Given the description of an element on the screen output the (x, y) to click on. 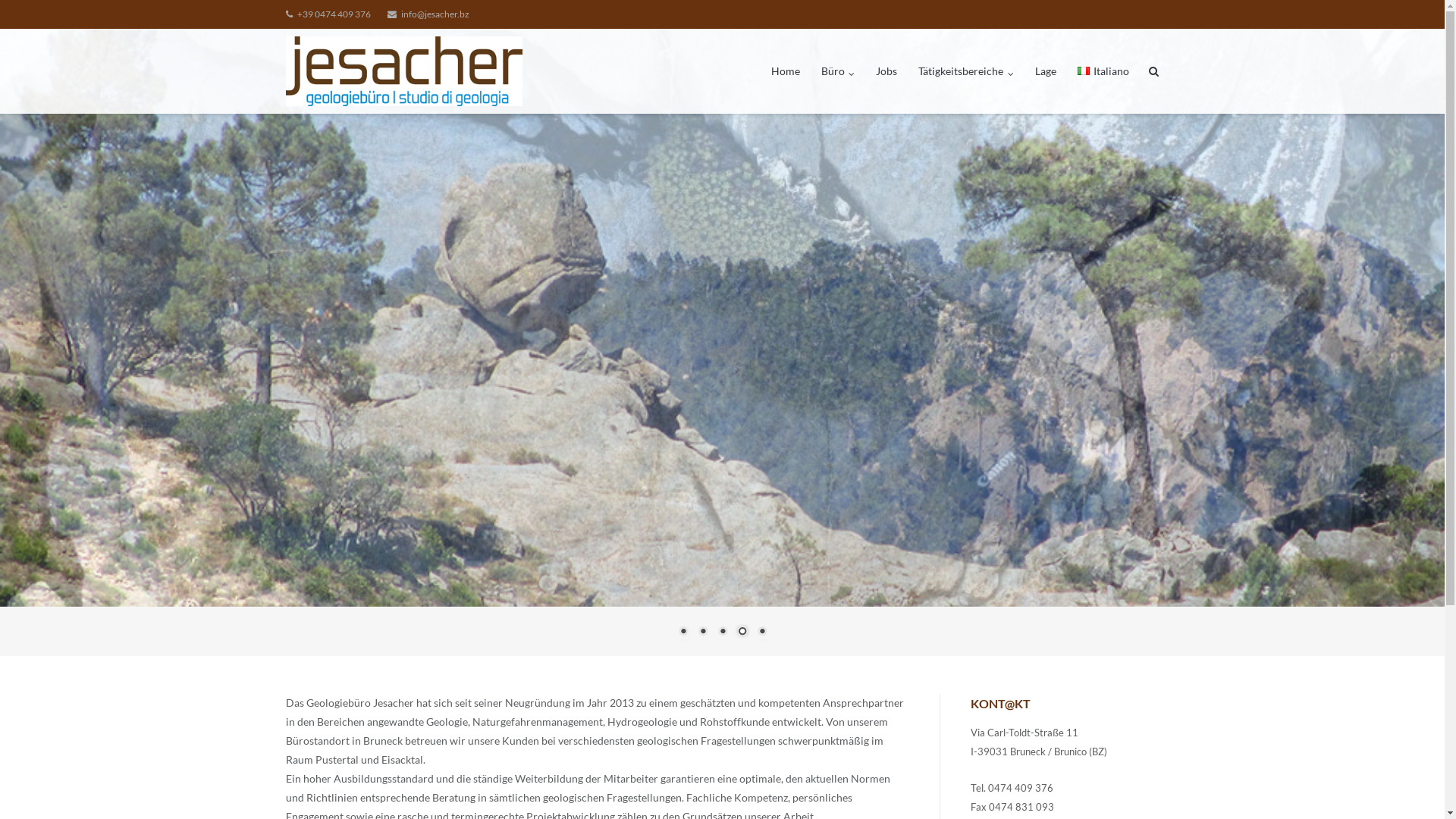
info@jesacher.bz Element type: text (428, 14)
3 Element type: text (722, 632)
2 Element type: text (702, 632)
5 Element type: text (761, 632)
Lage Element type: text (1045, 70)
Jobs Element type: text (886, 70)
Italiano Element type: text (1102, 70)
Home Element type: text (785, 70)
+39 0474 409 376 Element type: text (327, 14)
1 Element type: text (682, 632)
4 Element type: text (742, 632)
